Given the description of an element on the screen output the (x, y) to click on. 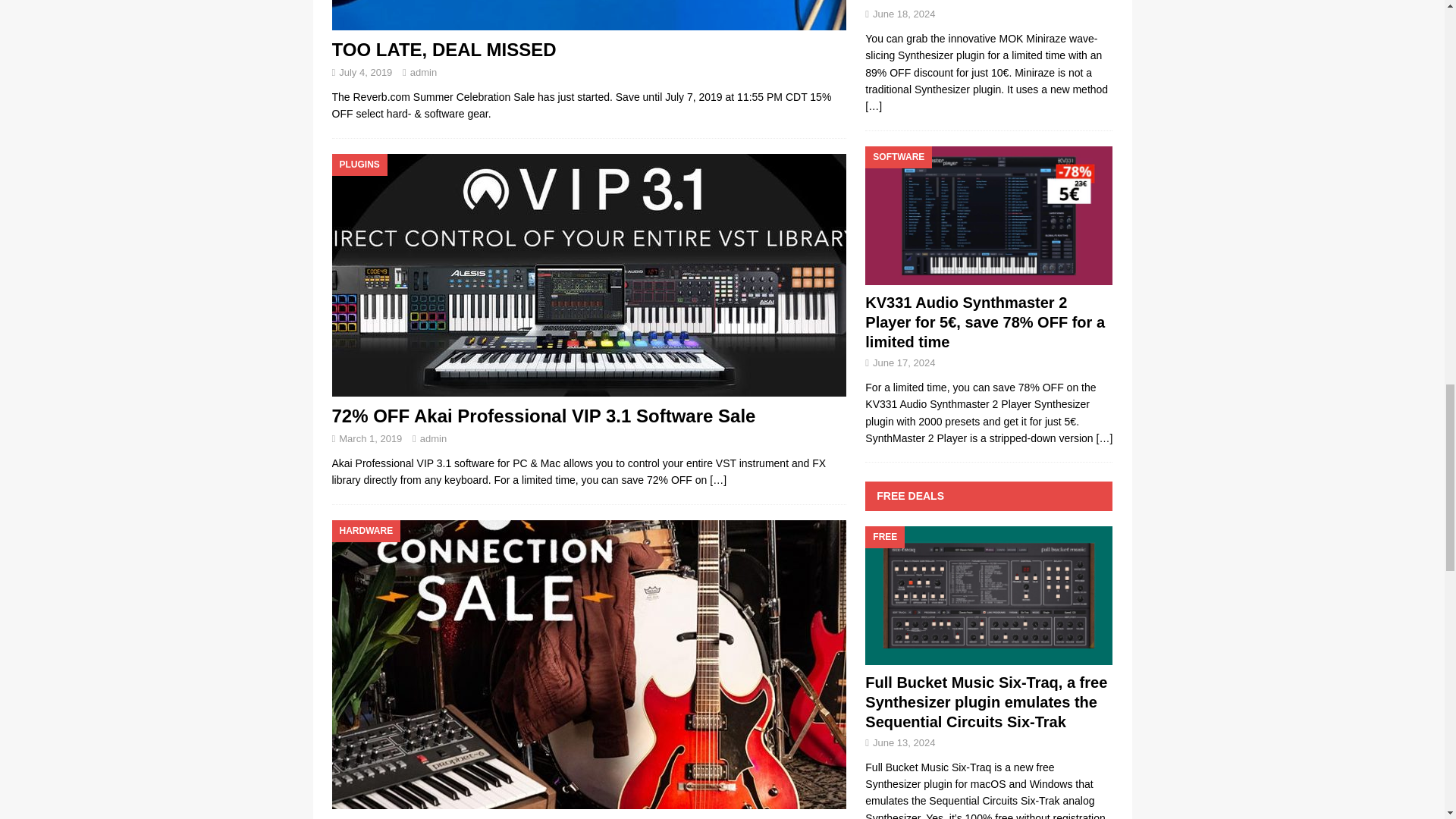
TOO LATE, DEAL MISSED (588, 15)
TOO LATE, DEAL MISSED (443, 49)
